Given the description of an element on the screen output the (x, y) to click on. 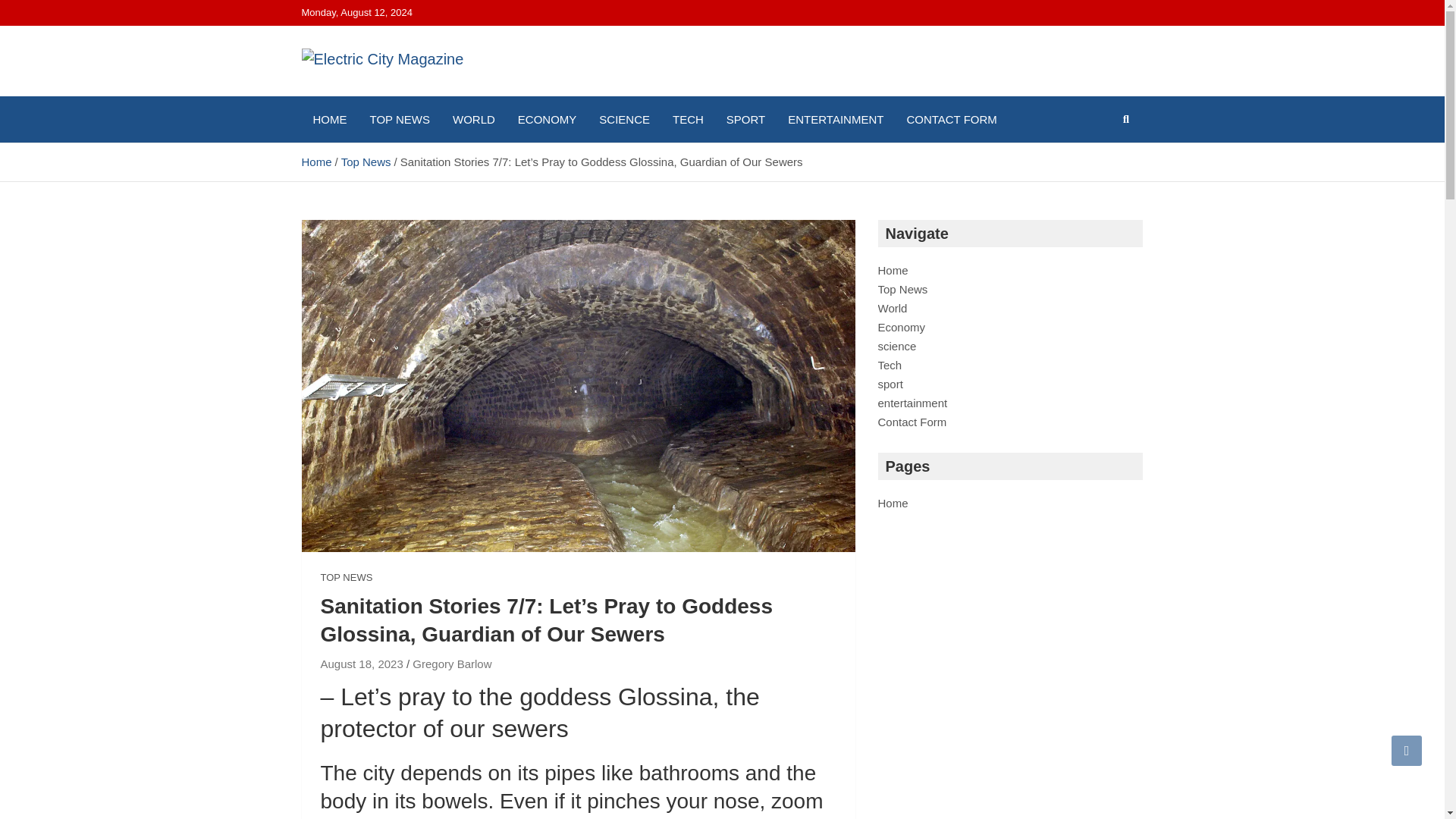
August 18, 2023 (361, 663)
WORLD (473, 119)
Electric City Magazine (369, 132)
Home (892, 502)
entertainment (912, 402)
ECONOMY (547, 119)
SPORT (745, 119)
Home (892, 269)
TOP NEWS (346, 577)
Economy (901, 327)
